Given the description of an element on the screen output the (x, y) to click on. 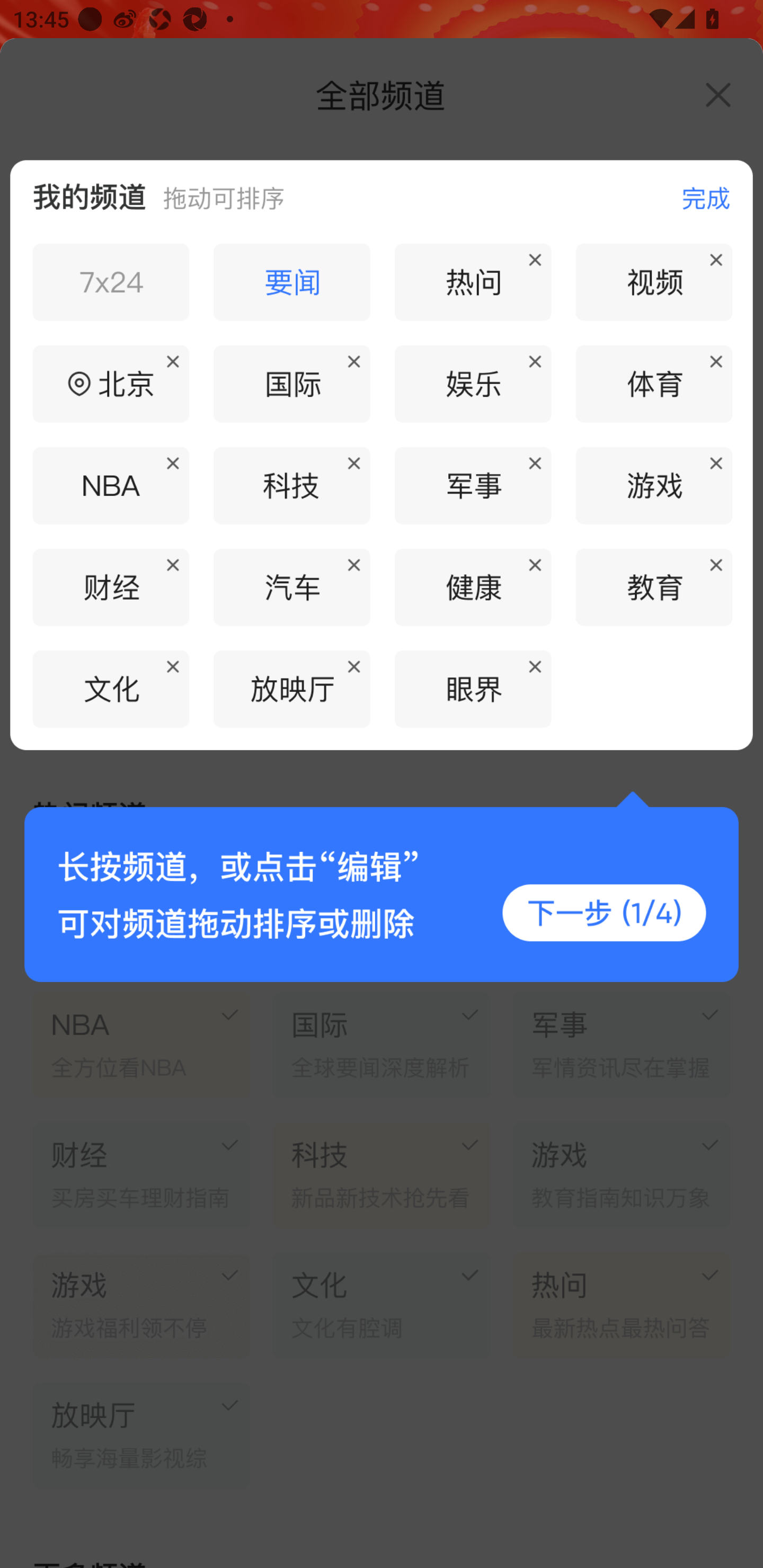
编辑 (691, 190)
